Given the description of an element on the screen output the (x, y) to click on. 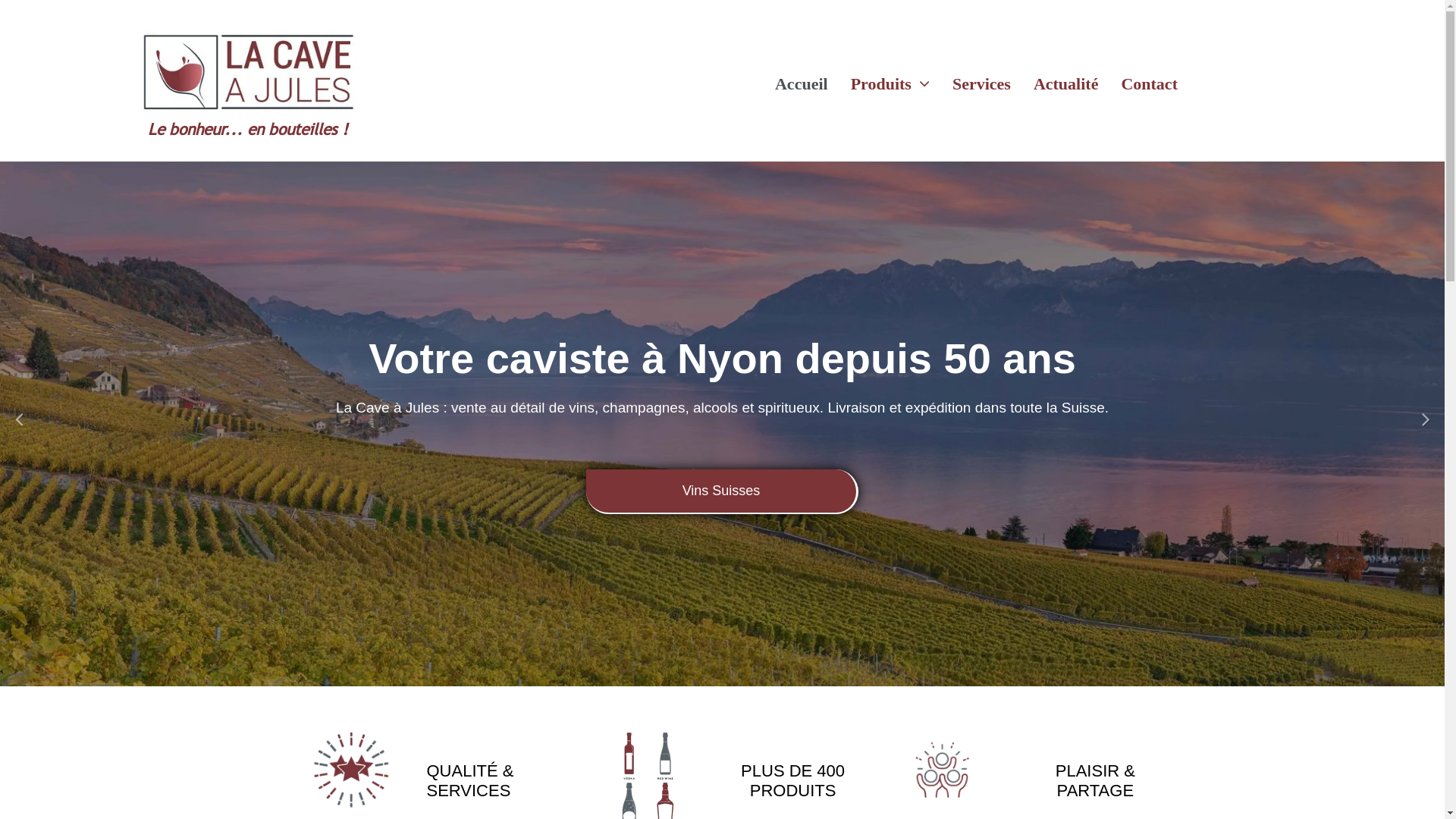
Produits Element type: text (878, 83)
Accueil Element type: text (790, 83)
Services Element type: text (969, 83)
Next Element type: text (1425, 417)
Previous Element type: text (18, 417)
Contact Element type: text (1137, 83)
